Given the description of an element on the screen output the (x, y) to click on. 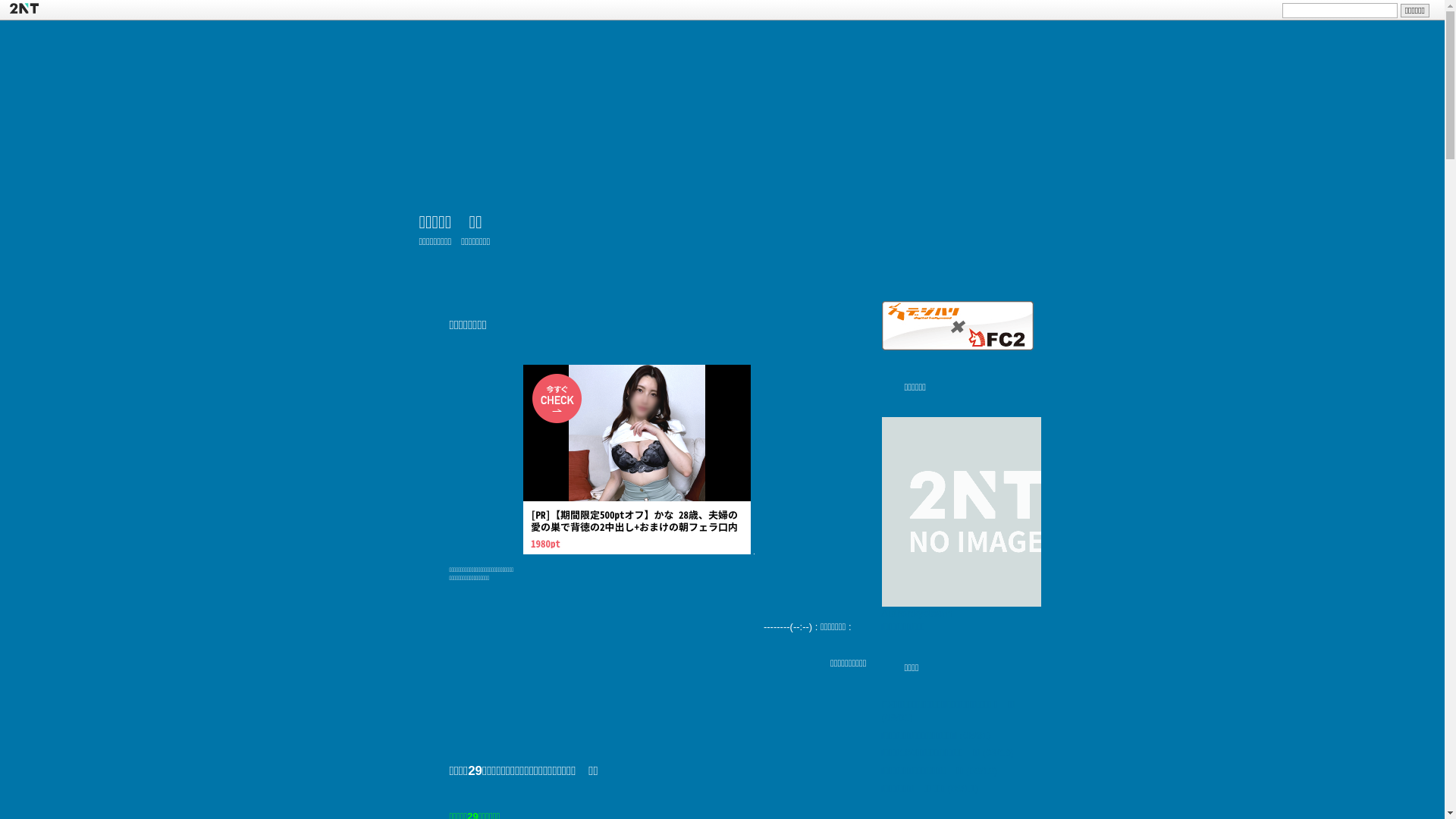
Digital Hollywood & FC2 Element type: hover (956, 325)
